Given the description of an element on the screen output the (x, y) to click on. 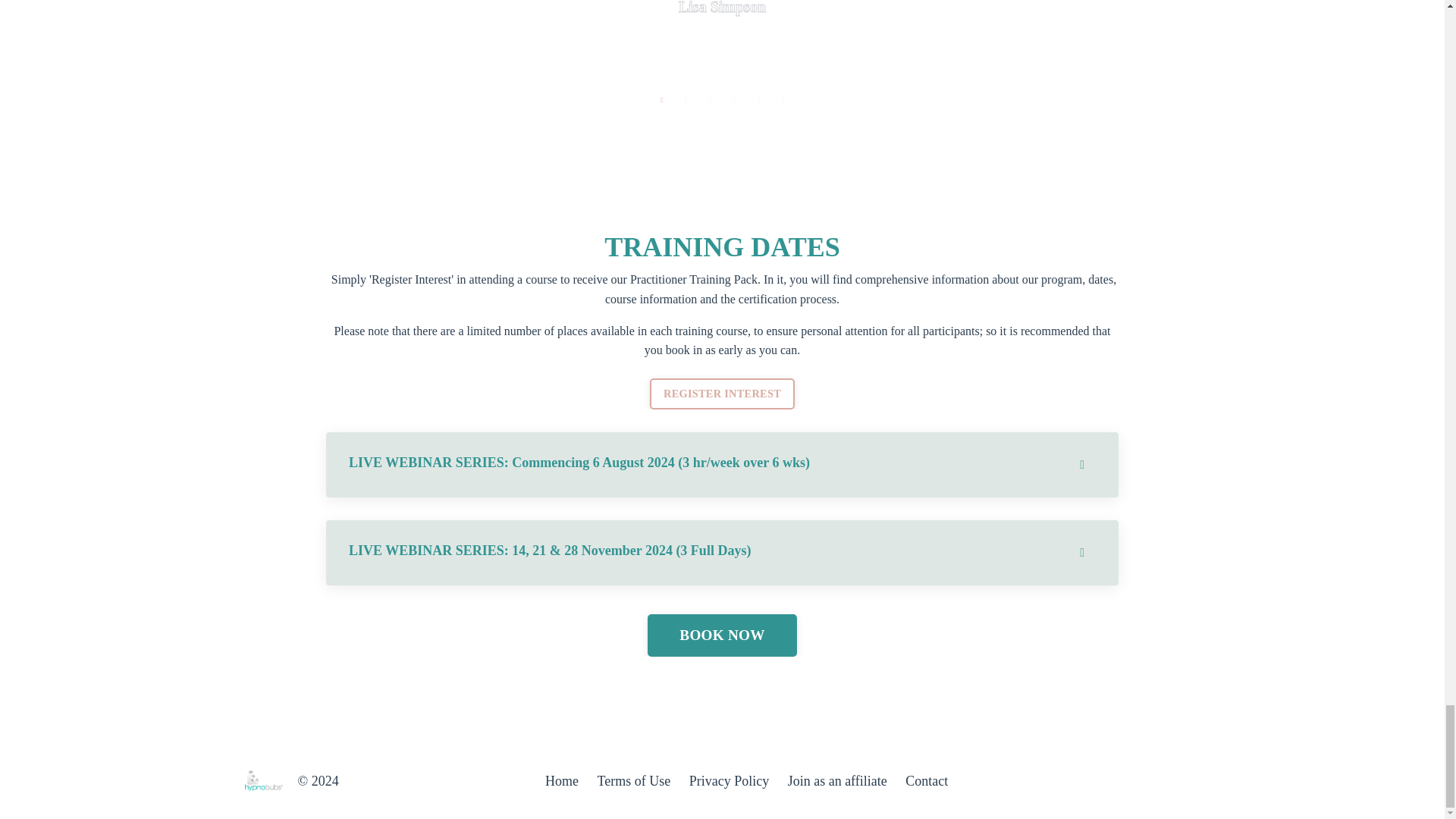
Privacy Policy (729, 780)
4 (733, 99)
Home (561, 780)
Join as an affiliate (836, 780)
Contact (926, 780)
2 (685, 99)
6 (782, 99)
REGISTER INTEREST (721, 394)
BOOK NOW (721, 635)
1 (660, 99)
3 (709, 99)
5 (758, 99)
Terms of Use (632, 780)
